Given the description of an element on the screen output the (x, y) to click on. 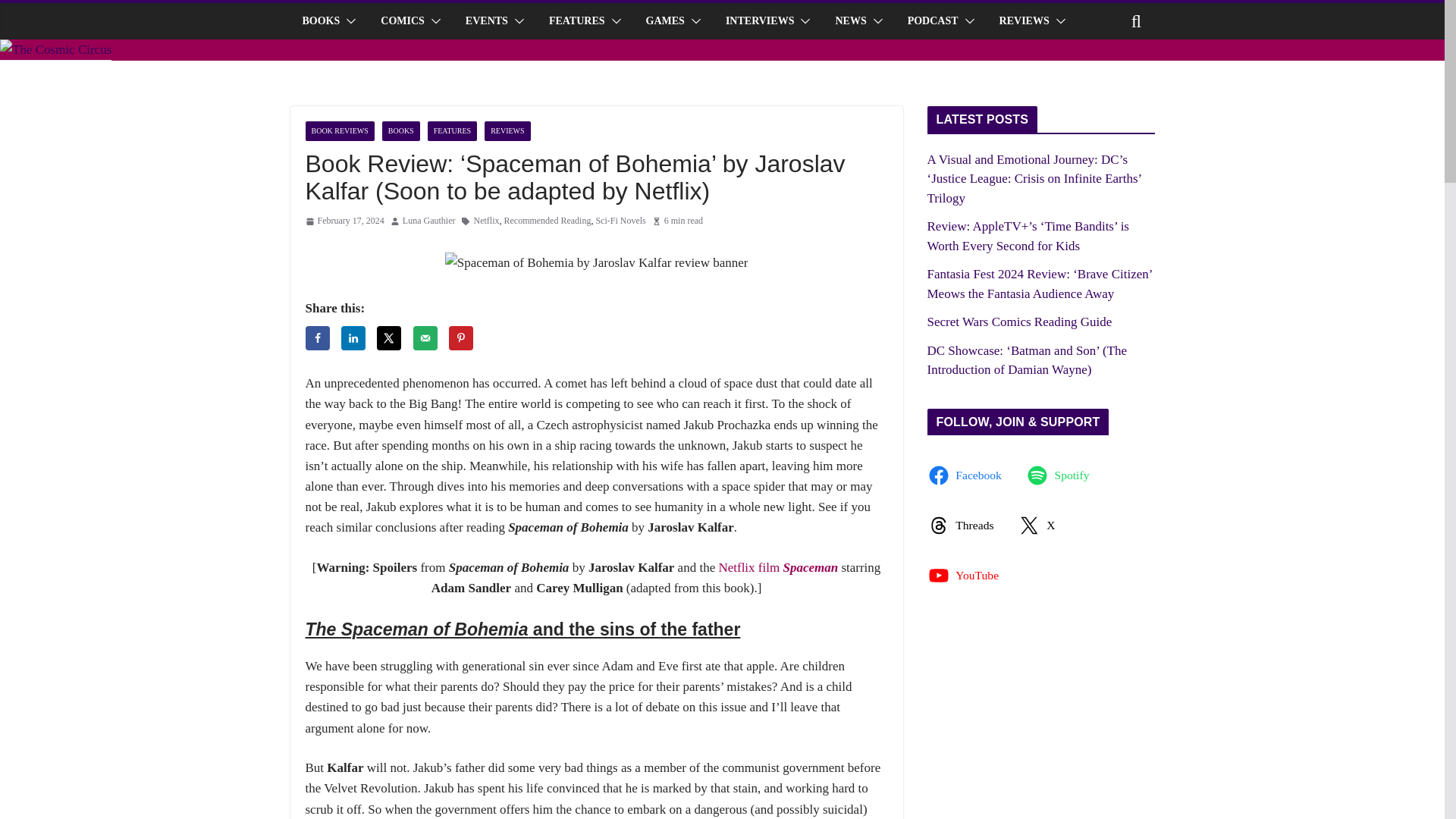
The Cosmic Circus (56, 49)
EVENTS (486, 20)
Luna Gauthier (429, 220)
FEATURES (576, 20)
Share on Facebook (316, 337)
BOOKS (320, 20)
Share on X (389, 337)
Share on LinkedIn (352, 337)
2:14 pm (344, 220)
Save to Pinterest (460, 337)
COMICS (402, 20)
Send over email (425, 337)
